Given the description of an element on the screen output the (x, y) to click on. 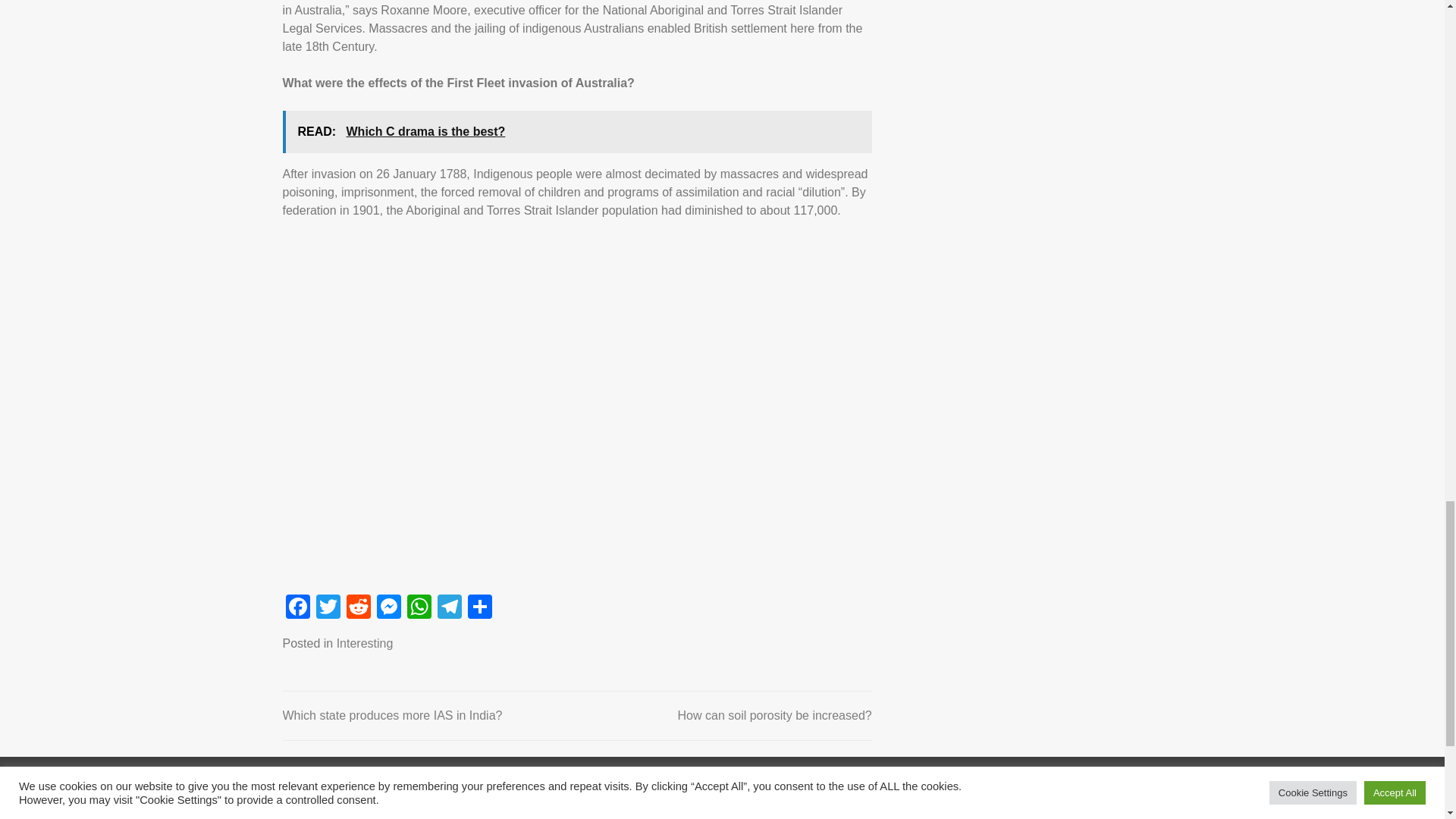
WhatsApp (418, 608)
READ:   Which C drama is the best? (576, 131)
Messenger (387, 608)
How can soil porosity be increased? (775, 715)
Interesting (364, 643)
Facebook (297, 608)
Reddit (357, 608)
Facebook (297, 608)
Twitter (327, 608)
WhatsApp (418, 608)
